Given the description of an element on the screen output the (x, y) to click on. 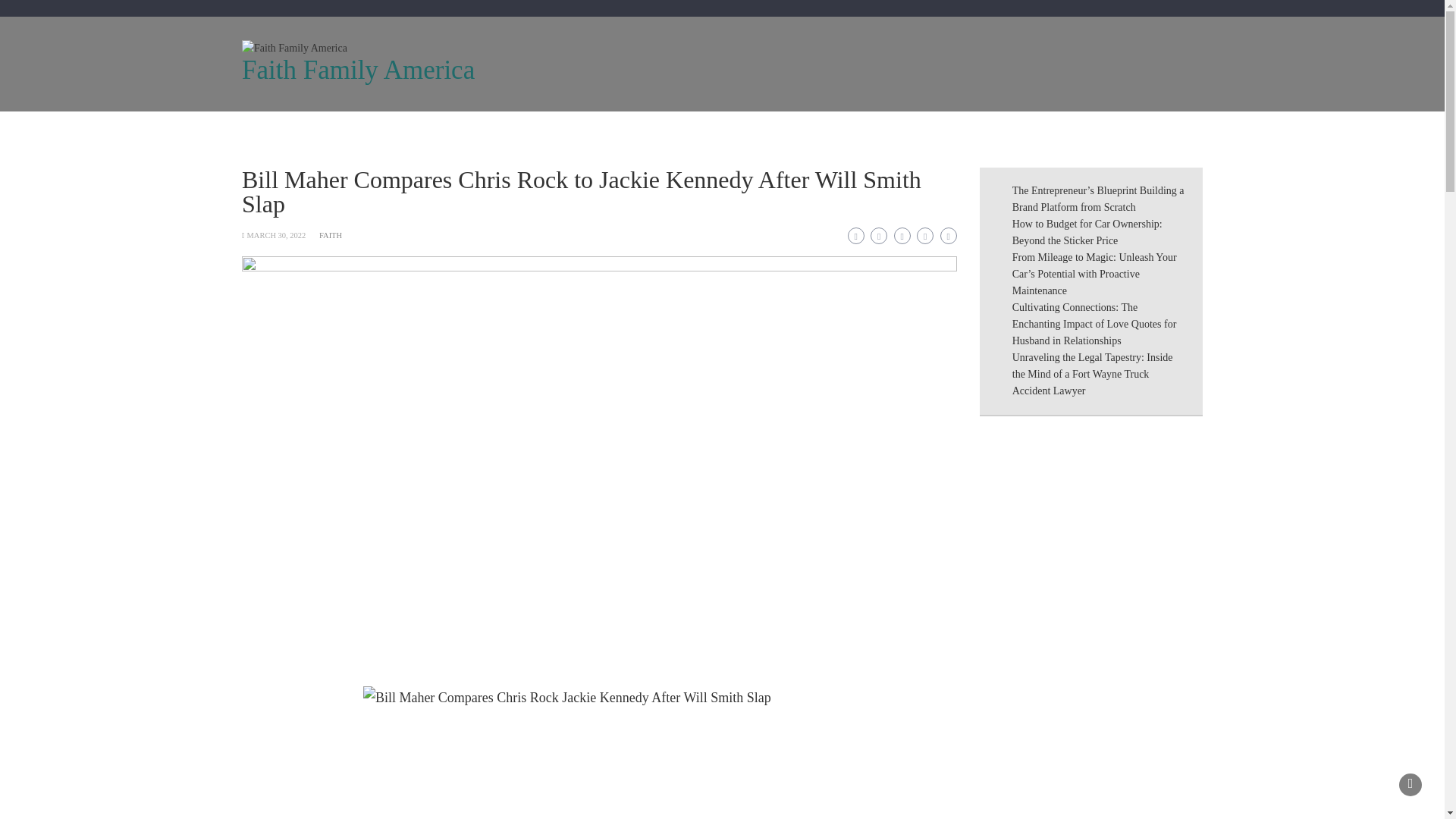
America (542, 130)
Home (273, 130)
Family (472, 130)
FAITH (330, 234)
Politics (614, 130)
Faith Family America (357, 70)
How to Budget for Car Ownership: Beyond the Sticker Price (1086, 232)
Faith (410, 130)
MARCH 30, 2022 (275, 234)
